Given the description of an element on the screen output the (x, y) to click on. 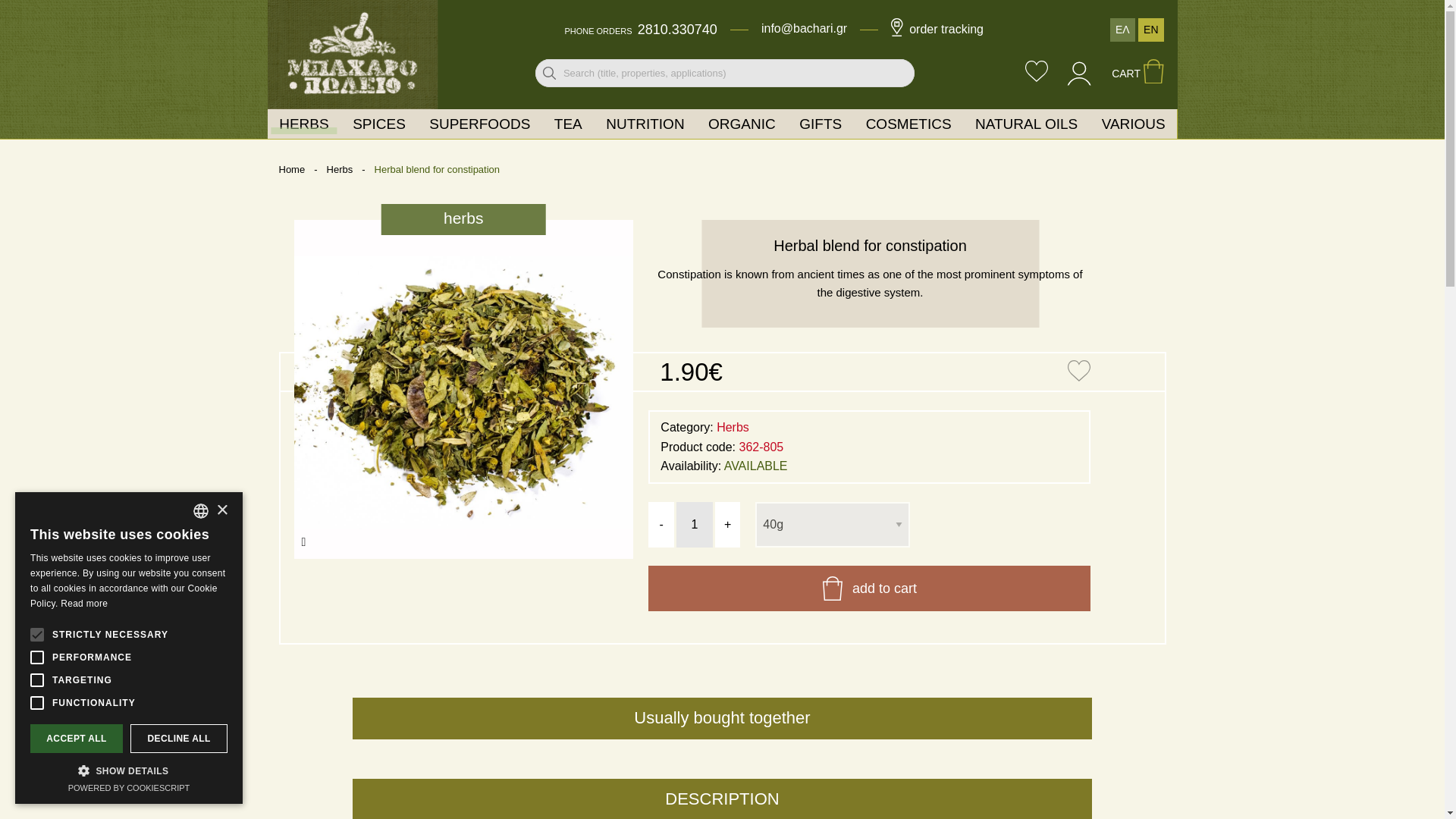
TEA (567, 123)
1 (695, 524)
ORGANIC (741, 123)
NATURAL OILS (1025, 123)
Search (549, 72)
NUTRITION (644, 123)
COSMETICS (907, 123)
My wishlist (1036, 73)
GIFTS (820, 123)
SUPERFOODS (479, 123)
2810.330740 (677, 29)
CART (1137, 73)
HERBS (303, 123)
add to wishlist (1078, 371)
Login (1079, 81)
